Given the description of an element on the screen output the (x, y) to click on. 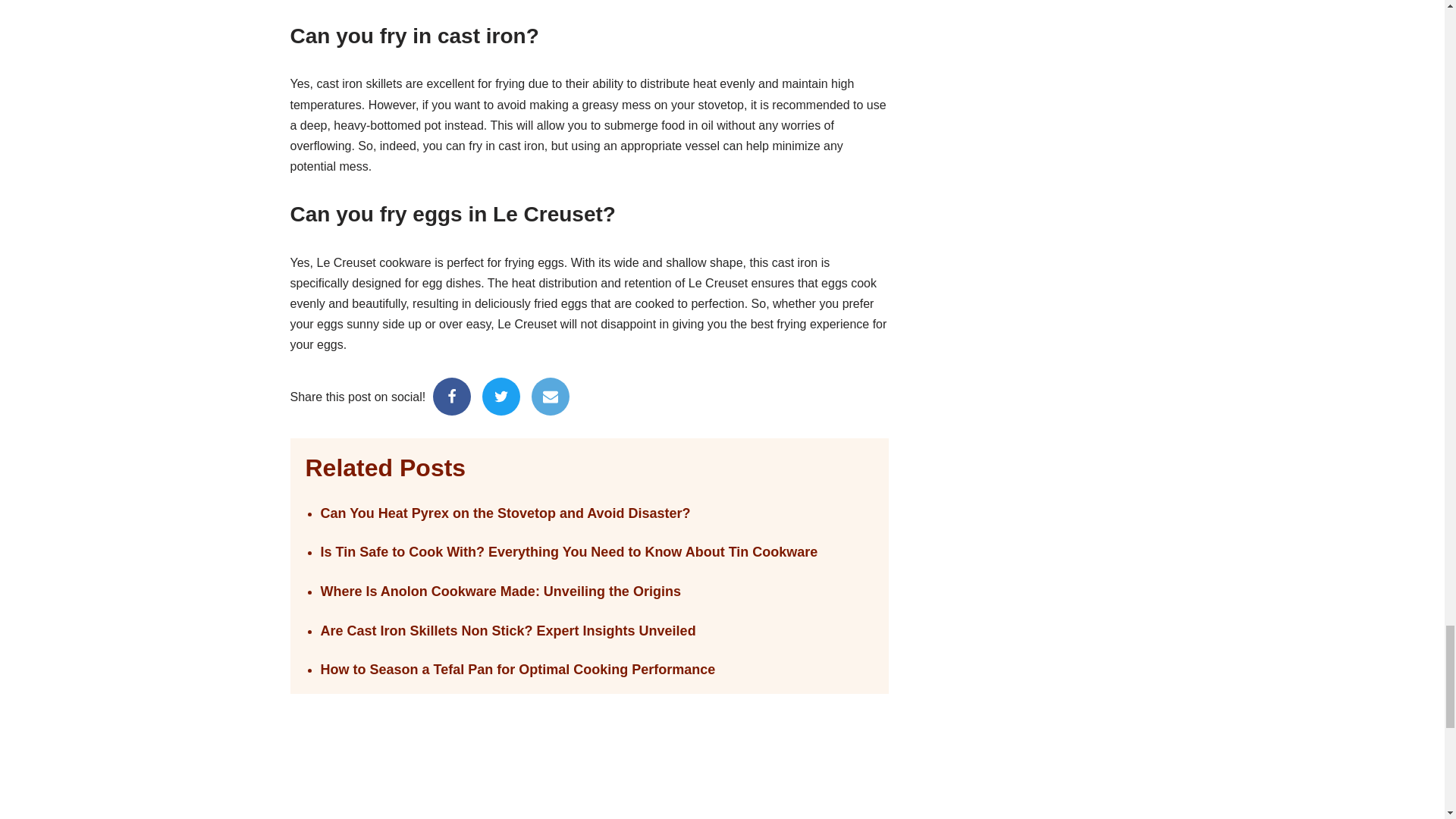
Email (550, 396)
Facebook (451, 396)
Twitter (500, 396)
Are Cast Iron Skillets Non Stick? Expert Insights Unveiled (596, 631)
How to Season a Tefal Pan for Optimal Cooking Performance (596, 669)
Where Is Anolon Cookware Made: Unveiling the Origins (596, 591)
Can You Heat Pyrex on the Stovetop and Avoid Disaster? (596, 514)
